Given the description of an element on the screen output the (x, y) to click on. 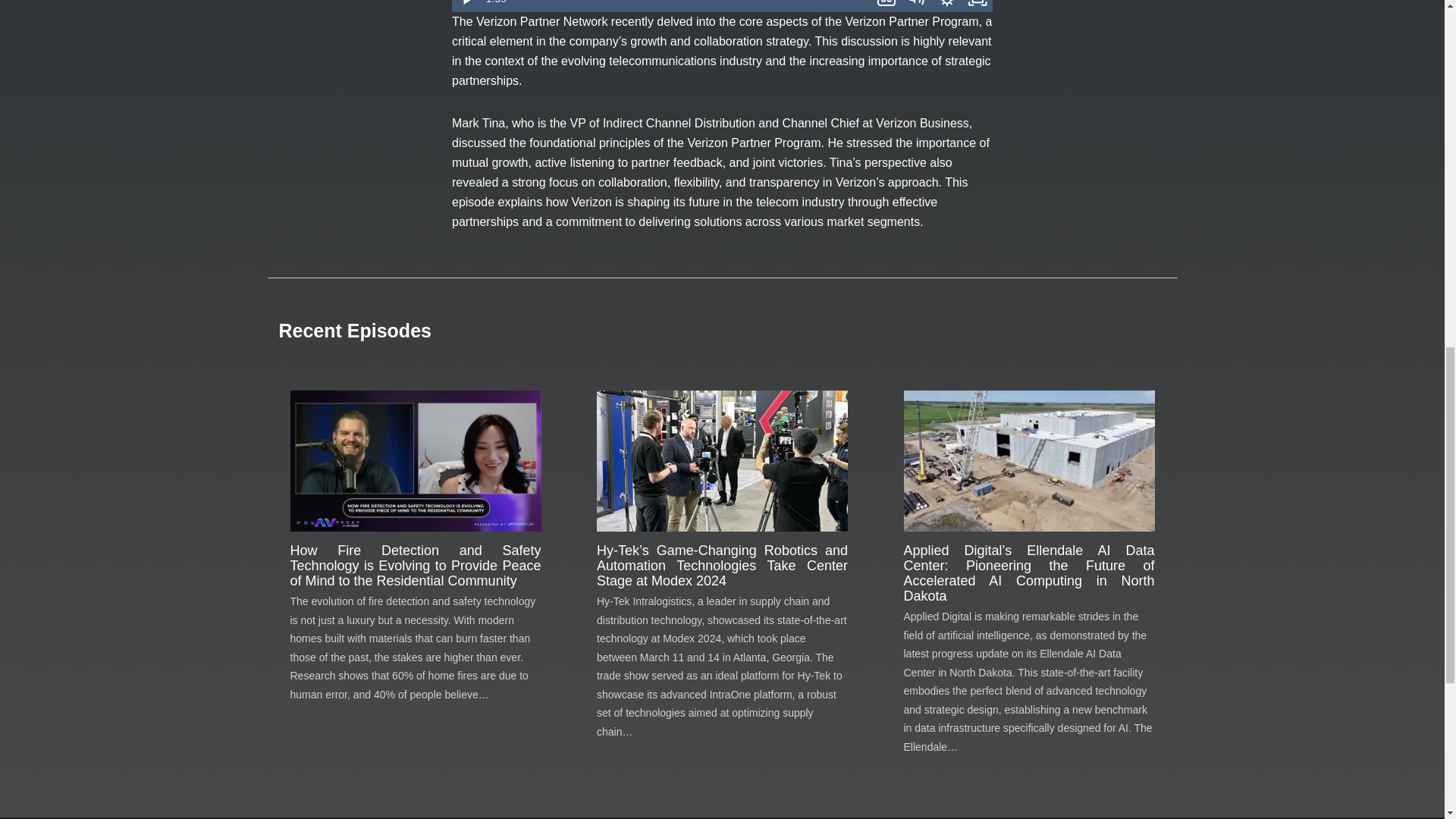
Show captions menu (885, 6)
Fullscreen (977, 6)
Show settings menu (946, 6)
Play Video (466, 6)
Mute (916, 6)
